Given the description of an element on the screen output the (x, y) to click on. 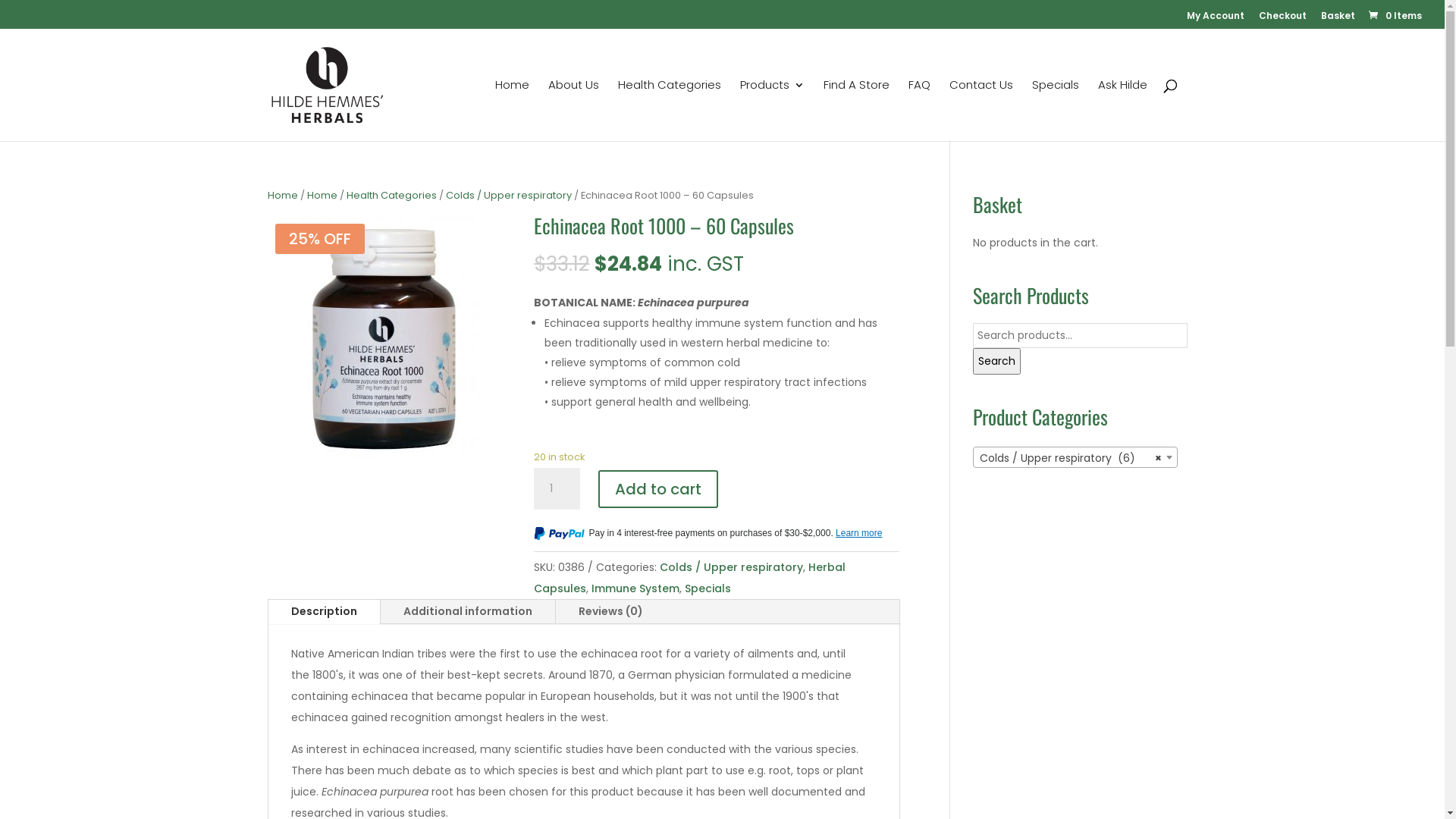
Description Element type: text (323, 611)
Immune System Element type: text (635, 588)
Specials Element type: text (1054, 110)
Herbal Capsules Element type: text (689, 577)
Add to cart Element type: text (658, 489)
Health Categories Element type: text (668, 110)
Specials Element type: text (707, 588)
Basket Element type: text (1338, 18)
Products Element type: text (772, 110)
PayPal Message 1 Element type: hover (716, 535)
Colds / Upper respiratory Element type: text (508, 195)
FAQ Element type: text (919, 110)
echinacea root 1000 60 capsules Element type: hover (383, 337)
Reviews (0) Element type: text (610, 611)
Ask Hilde Element type: text (1122, 110)
0 Items Element type: text (1393, 15)
Home Element type: text (321, 195)
Search Element type: text (995, 361)
Home Element type: text (511, 110)
Additional information Element type: text (467, 611)
About Us Element type: text (572, 110)
Colds / Upper respiratory Element type: text (731, 566)
Health Categories Element type: text (390, 195)
My Account Element type: text (1215, 18)
Checkout Element type: text (1282, 18)
Contact Us Element type: text (981, 110)
Home Element type: text (281, 195)
Find A Store Element type: text (856, 110)
